Given the description of an element on the screen output the (x, y) to click on. 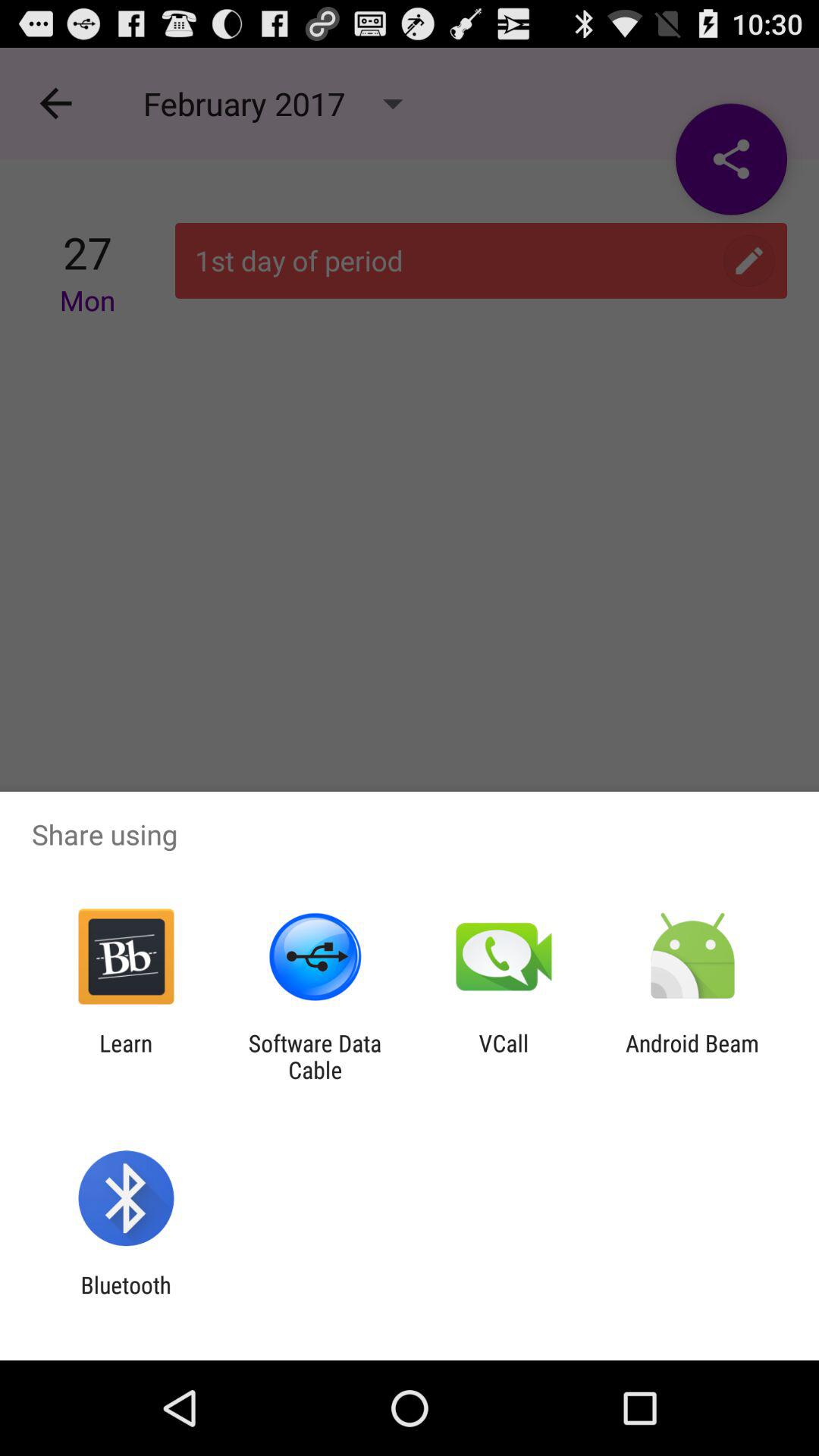
click the android beam icon (692, 1056)
